Given the description of an element on the screen output the (x, y) to click on. 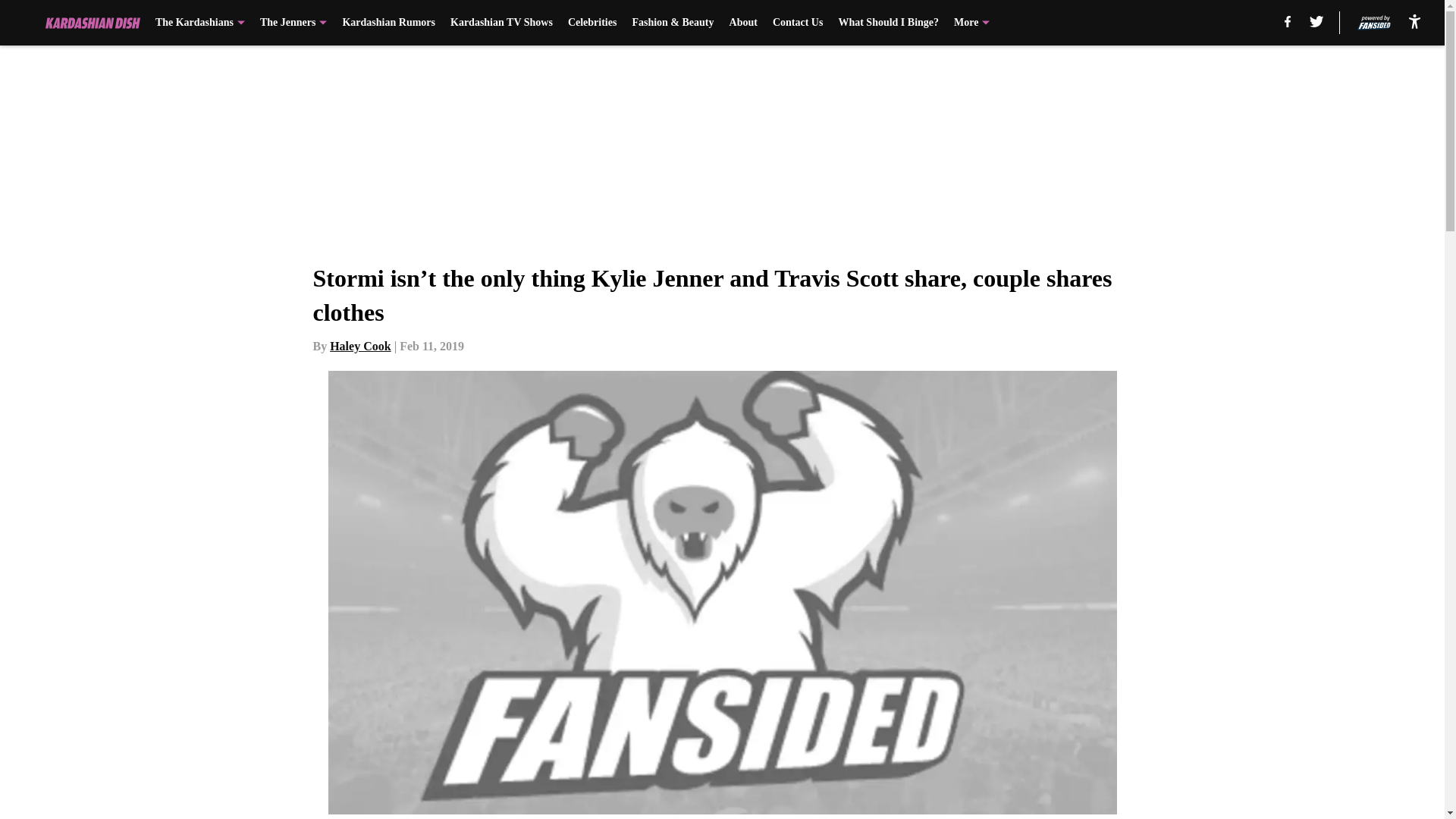
Haley Cook (360, 345)
Kardashian Rumors (388, 22)
Celebrities (592, 22)
About (743, 22)
More (971, 22)
Kardashian TV Shows (501, 22)
What Should I Binge? (888, 22)
Contact Us (798, 22)
